Given the description of an element on the screen output the (x, y) to click on. 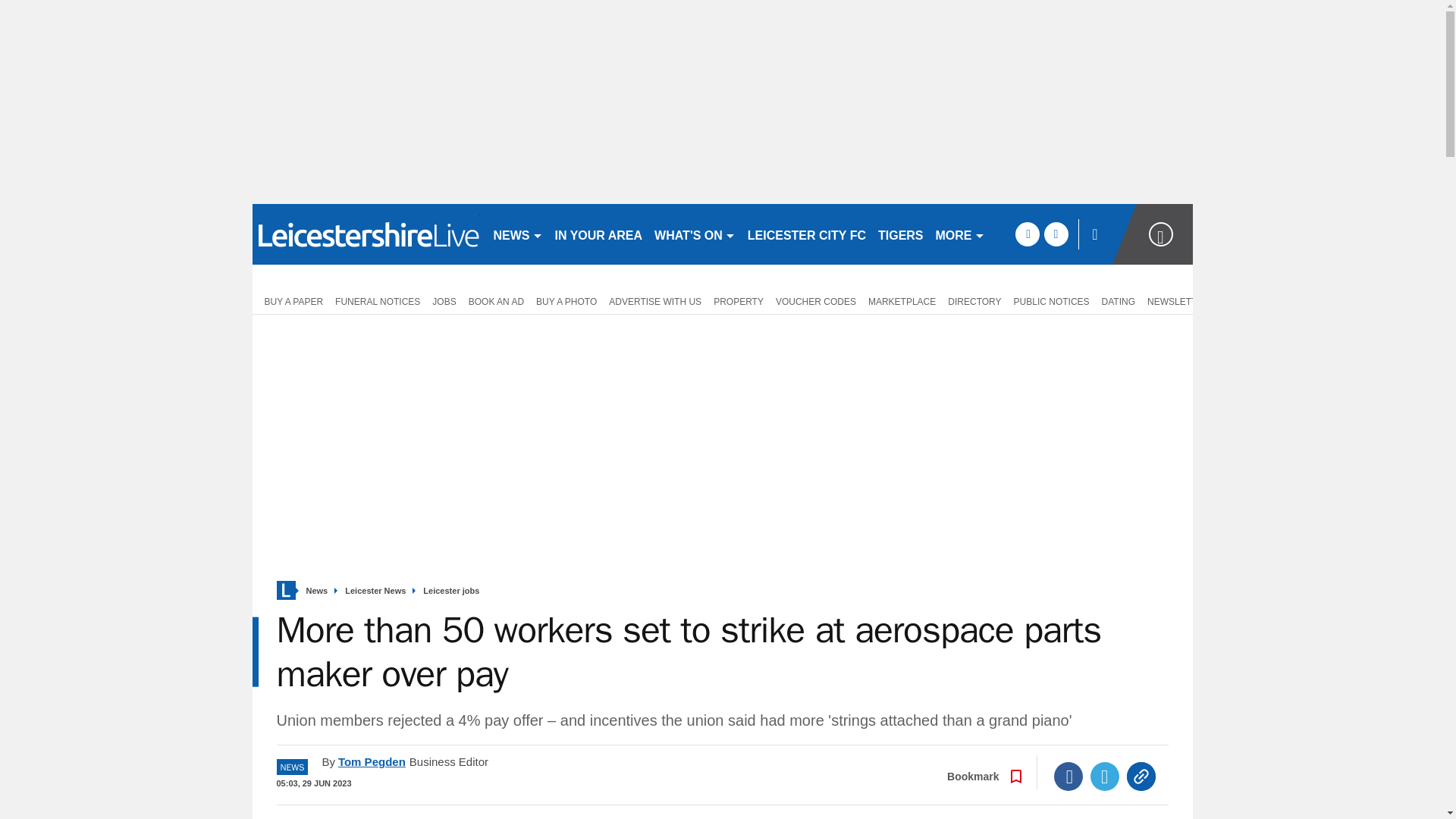
twitter (1055, 233)
facebook (1026, 233)
TIGERS (901, 233)
Facebook (1068, 776)
Twitter (1104, 776)
NEWS (517, 233)
leicestermercury (365, 233)
LEICESTER CITY FC (806, 233)
IN YOUR AREA (598, 233)
WHAT'S ON (694, 233)
